Given the description of an element on the screen output the (x, y) to click on. 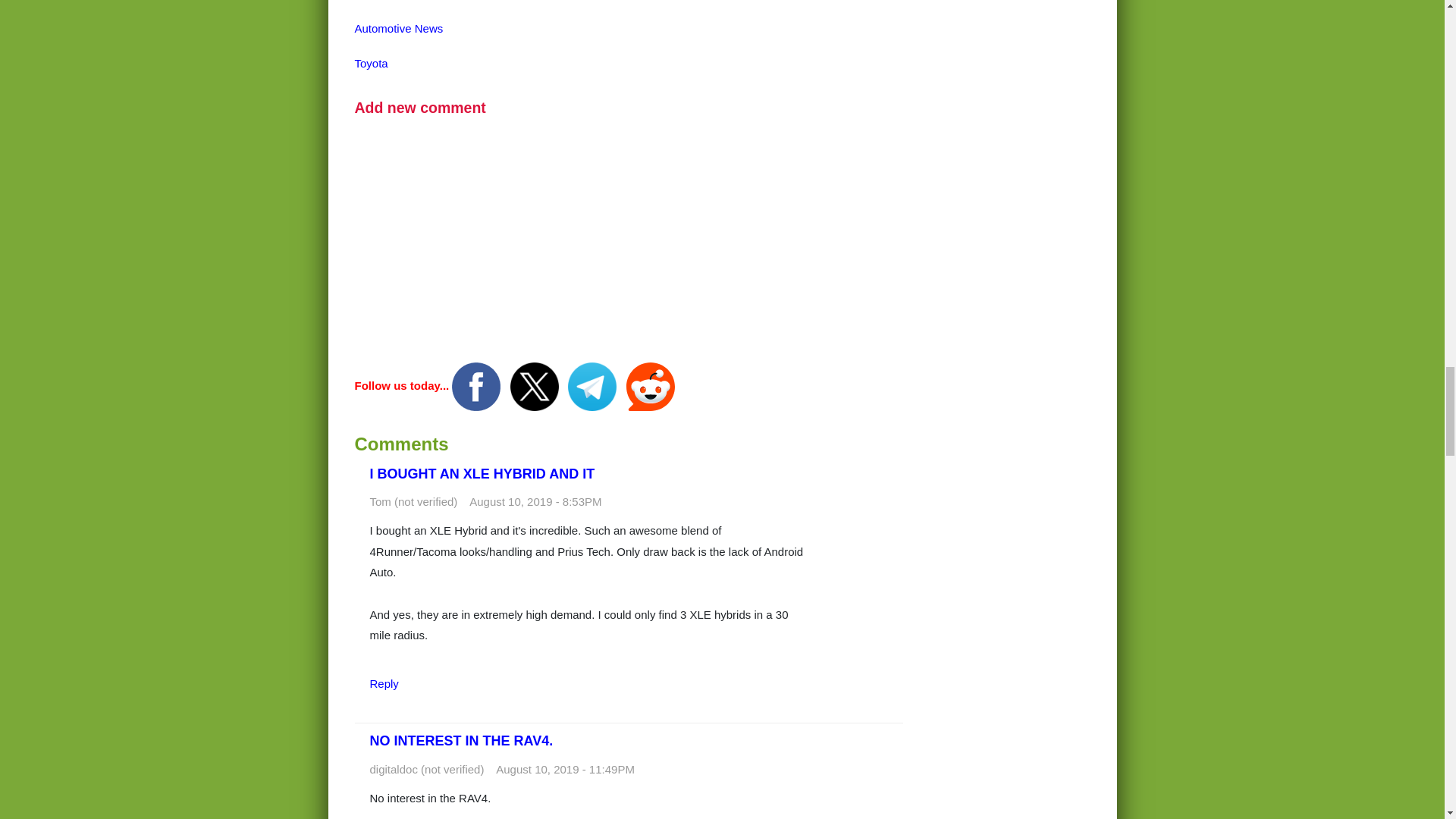
Toyota (371, 62)
Join us on Reddit! (650, 385)
Automotive News (399, 28)
I BOUGHT AN XLE HYBRID AND IT (482, 473)
Add new comment (420, 107)
Share your thoughts and opinions. (420, 107)
Join us on Telegram! (593, 385)
Reply (383, 683)
NO INTEREST IN THE RAV4. (461, 740)
